Given the description of an element on the screen output the (x, y) to click on. 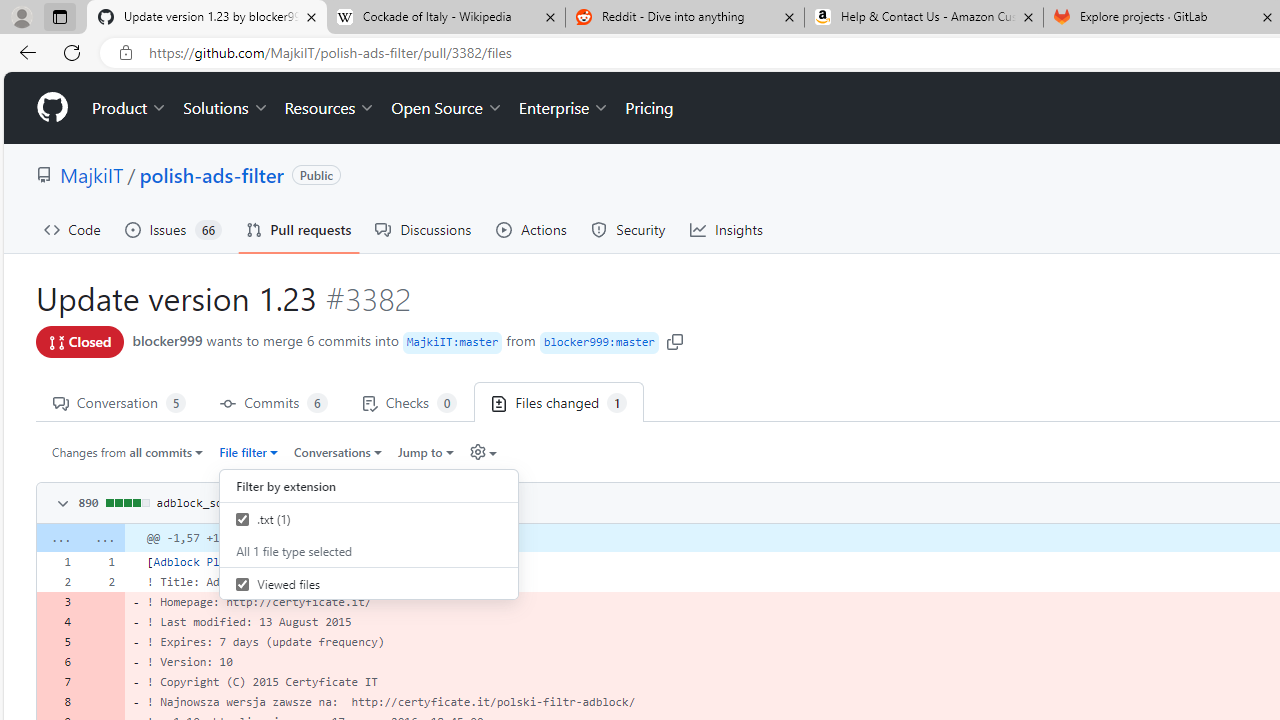
Class: SelectMenu js-file-filter (368, 538)
 Files changed 1 (559, 401)
... (102, 538)
Diff settings (477, 452)
4 (58, 622)
Pull requests (298, 229)
Viewed files (242, 583)
Diff settings (482, 451)
Resources (330, 107)
6 (58, 661)
Conversations (338, 451)
Pricing (649, 107)
